Given the description of an element on the screen output the (x, y) to click on. 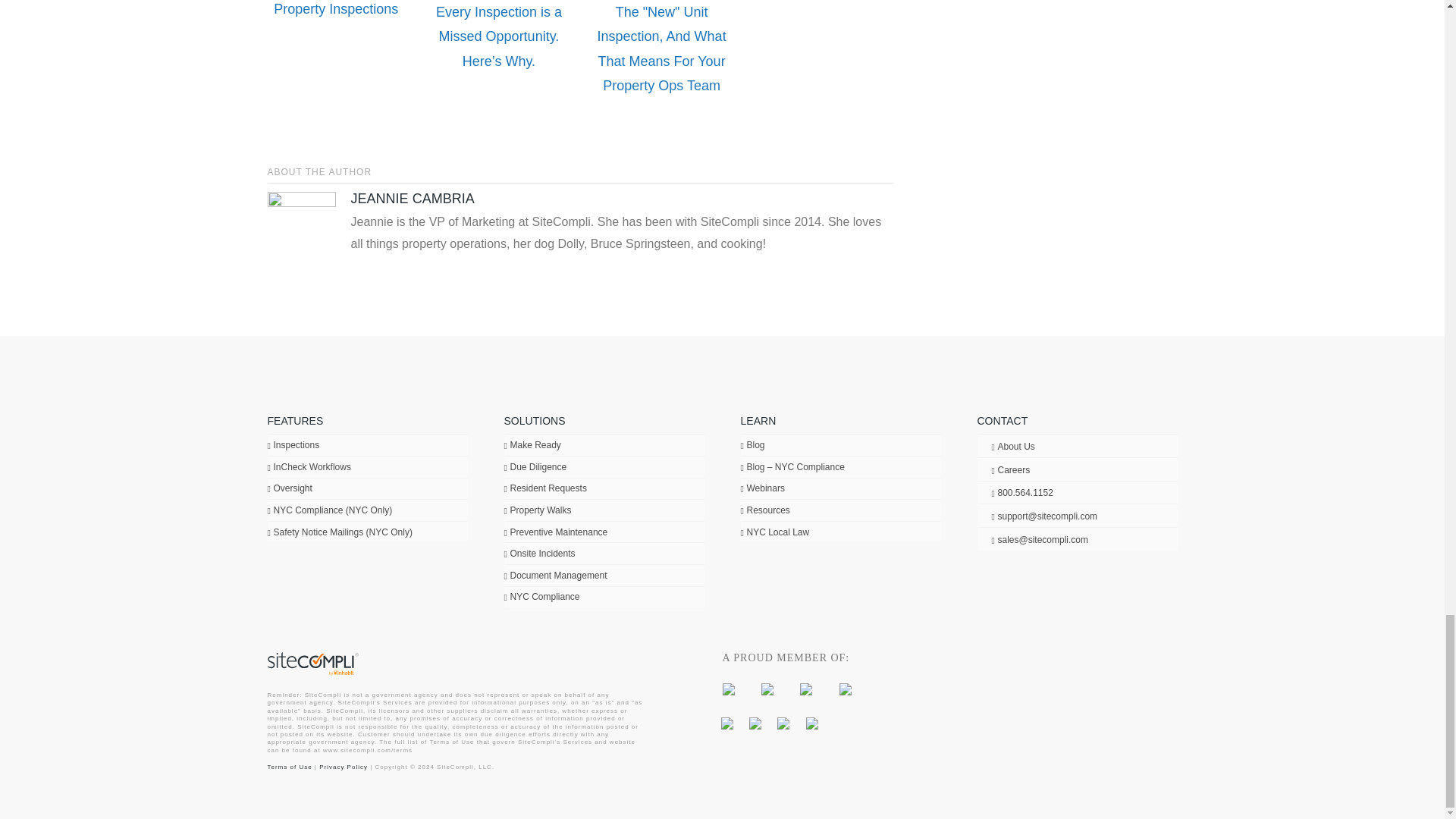
Opens in a new window (805, 687)
Opens in a new window (812, 721)
Opens in a new window (755, 721)
Opens in a new window (727, 687)
Opens in a new window (767, 687)
Opens in a new window (845, 687)
Opens in a new window (726, 721)
Opens in a new window (783, 721)
